Given the description of an element on the screen output the (x, y) to click on. 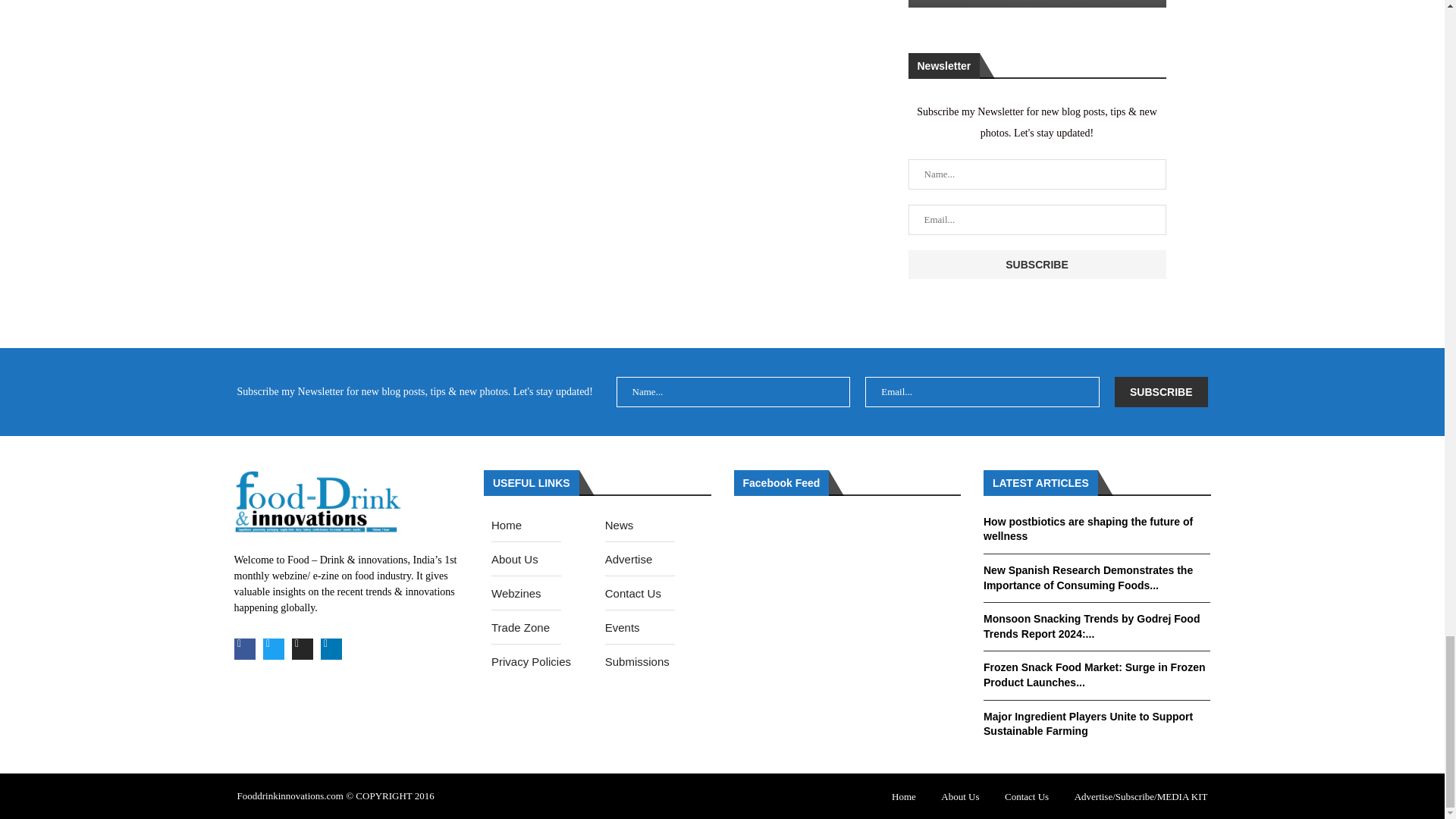
Nutraceuticals for Mental Wellness (1034, 3)
Subscribe (1037, 264)
Subscribe (1161, 391)
